Given the description of an element on the screen output the (x, y) to click on. 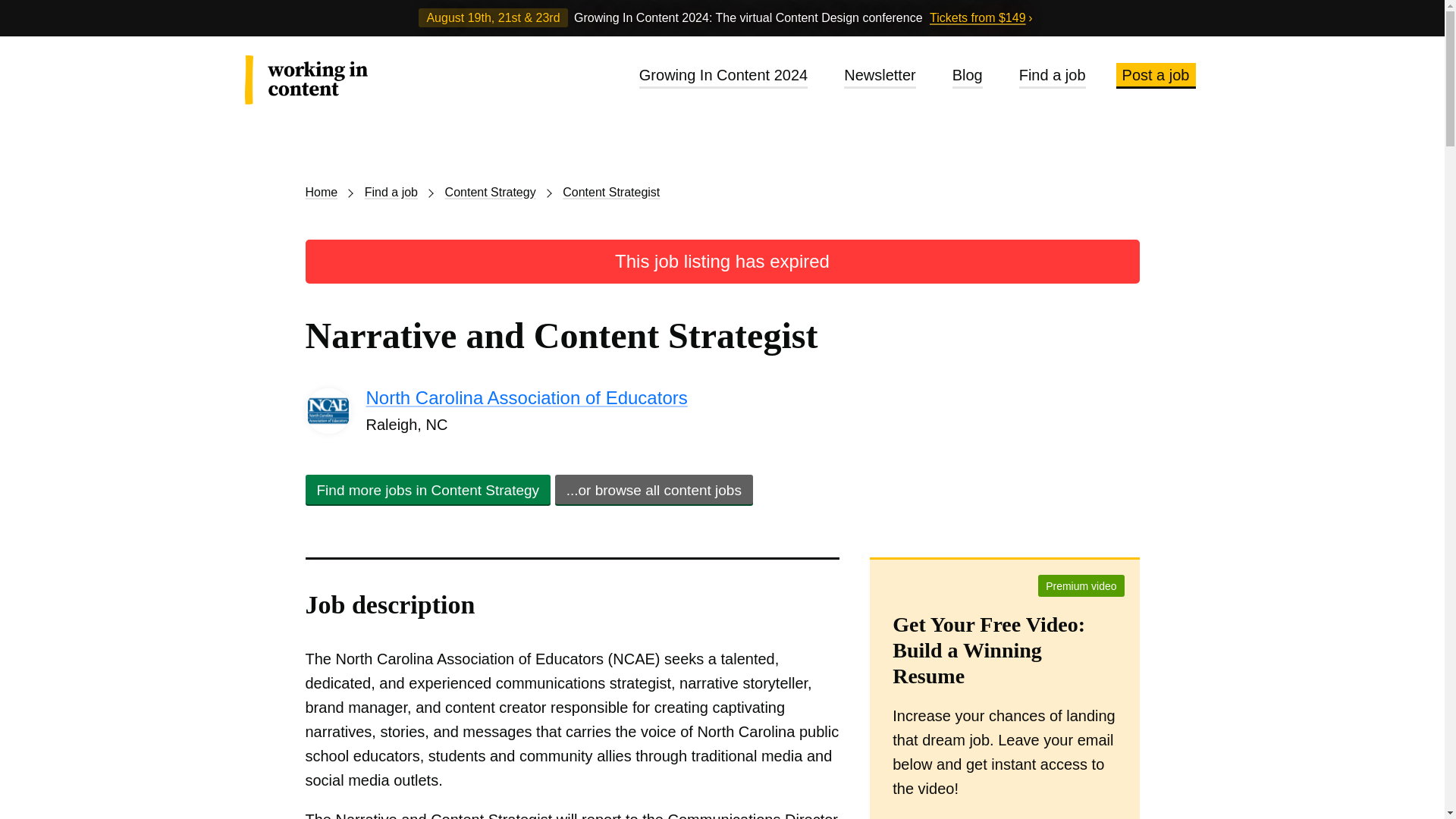
Growing In Content 2024 (723, 75)
Find more jobs in Content Strategy (427, 489)
Content Strategist (610, 192)
Newsletter (879, 75)
Find a job (1052, 75)
Find a job (397, 192)
Content Strategy (496, 192)
...or browse all content jobs (653, 489)
Home (326, 192)
